Given the description of an element on the screen output the (x, y) to click on. 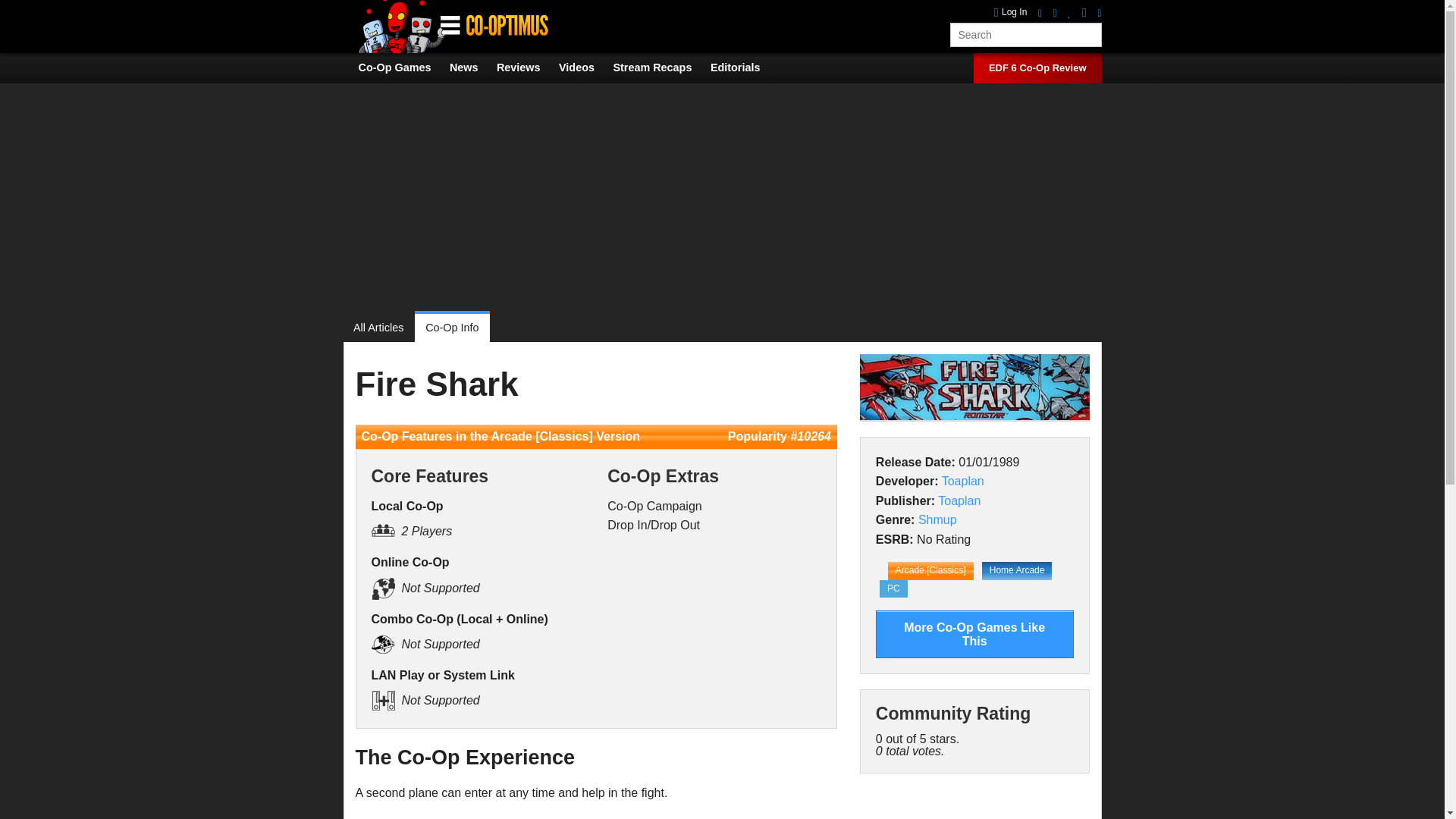
Videos (584, 67)
Shmup (937, 519)
All Articles (383, 327)
login (1010, 11)
Toaplan (958, 500)
 Log In (1010, 11)
EDF 6 Co-Op Review (1037, 67)
Stream Recaps (659, 67)
News (471, 67)
Toaplan (963, 481)
